Given the description of an element on the screen output the (x, y) to click on. 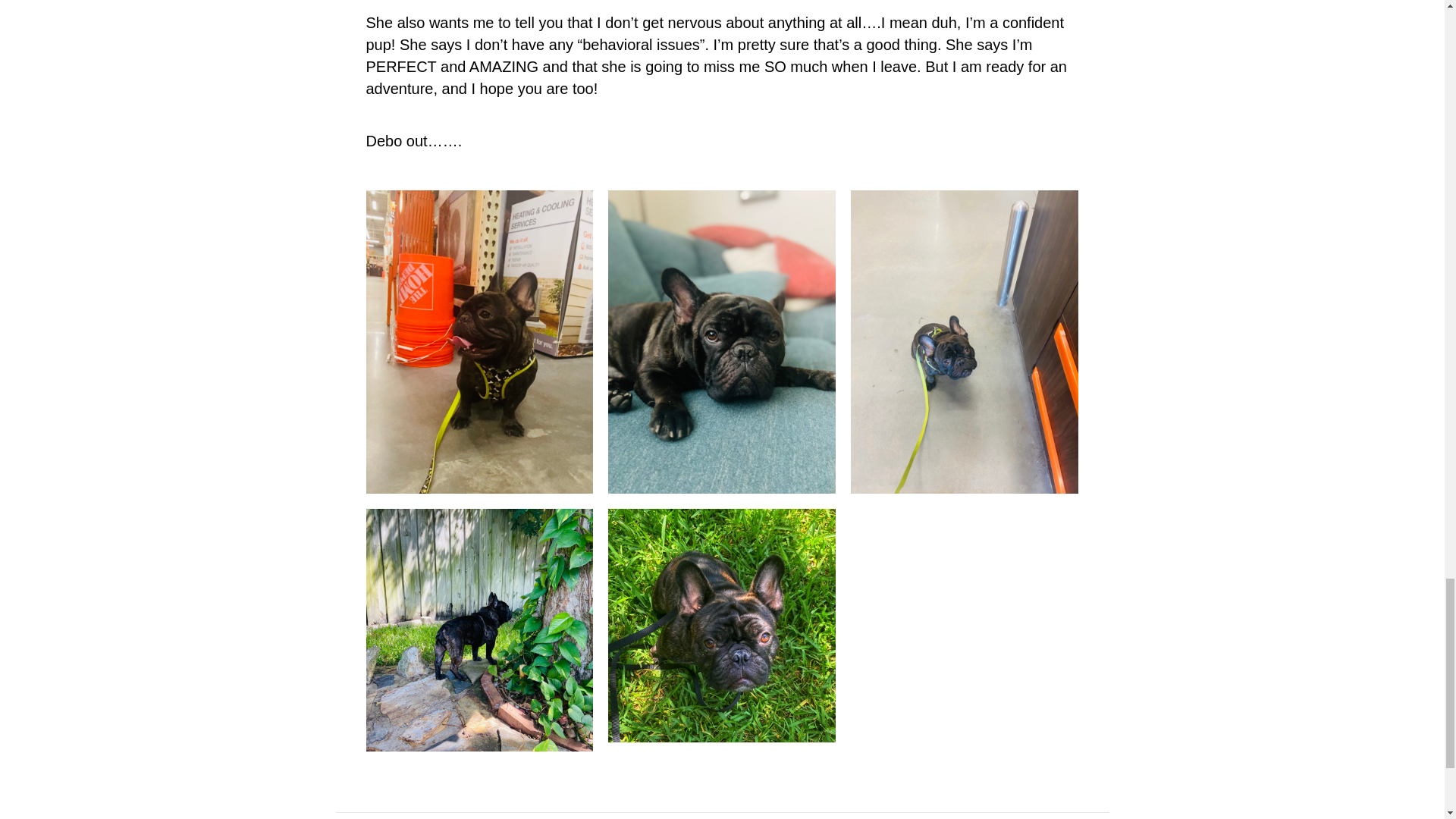
Debo2 (721, 625)
Deboavailable6 (478, 629)
